Given the description of an element on the screen output the (x, y) to click on. 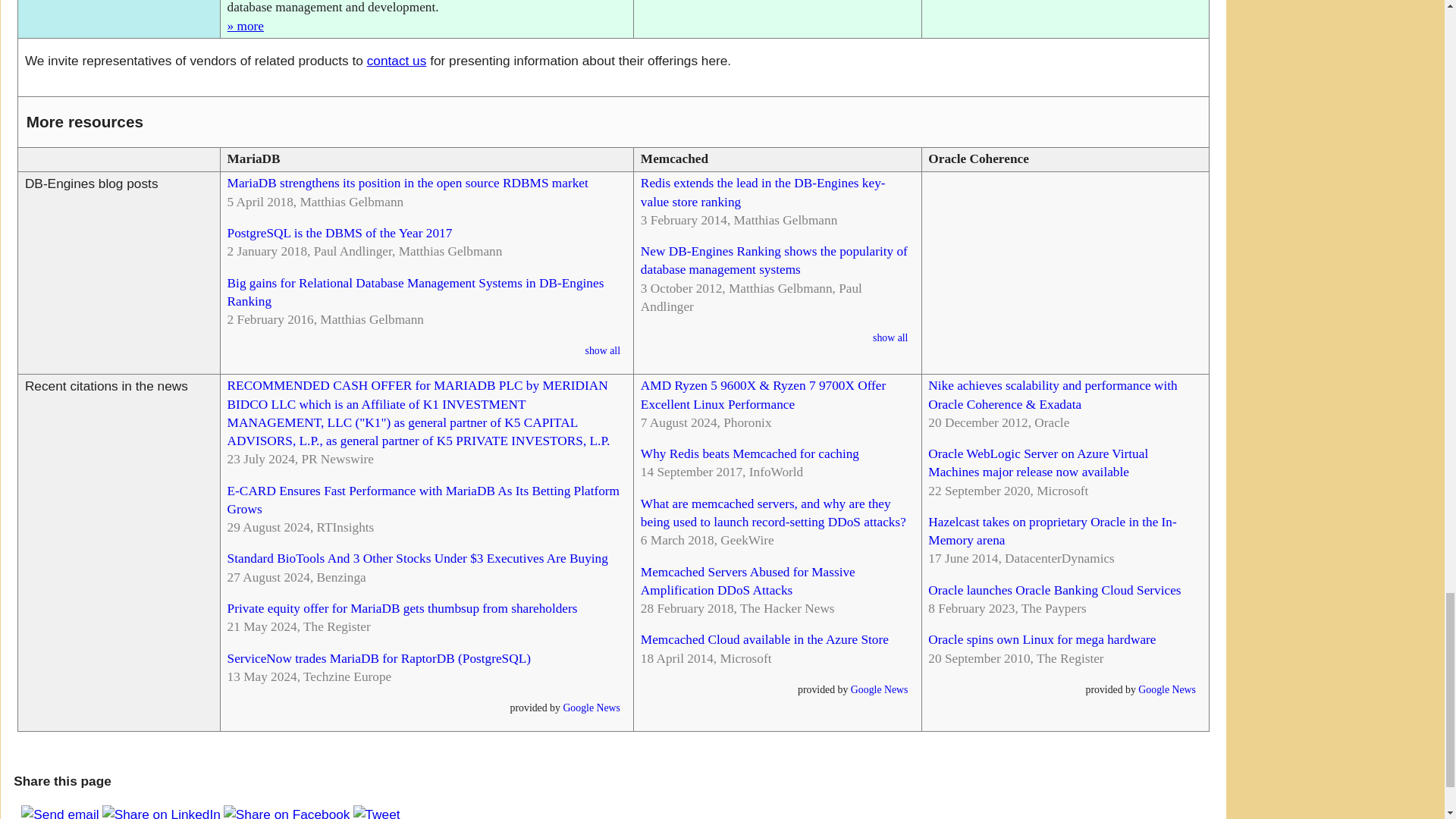
Tweet (376, 812)
Share on LinkedIn (161, 812)
Share on Facebook (287, 812)
Send email (60, 812)
